Given the description of an element on the screen output the (x, y) to click on. 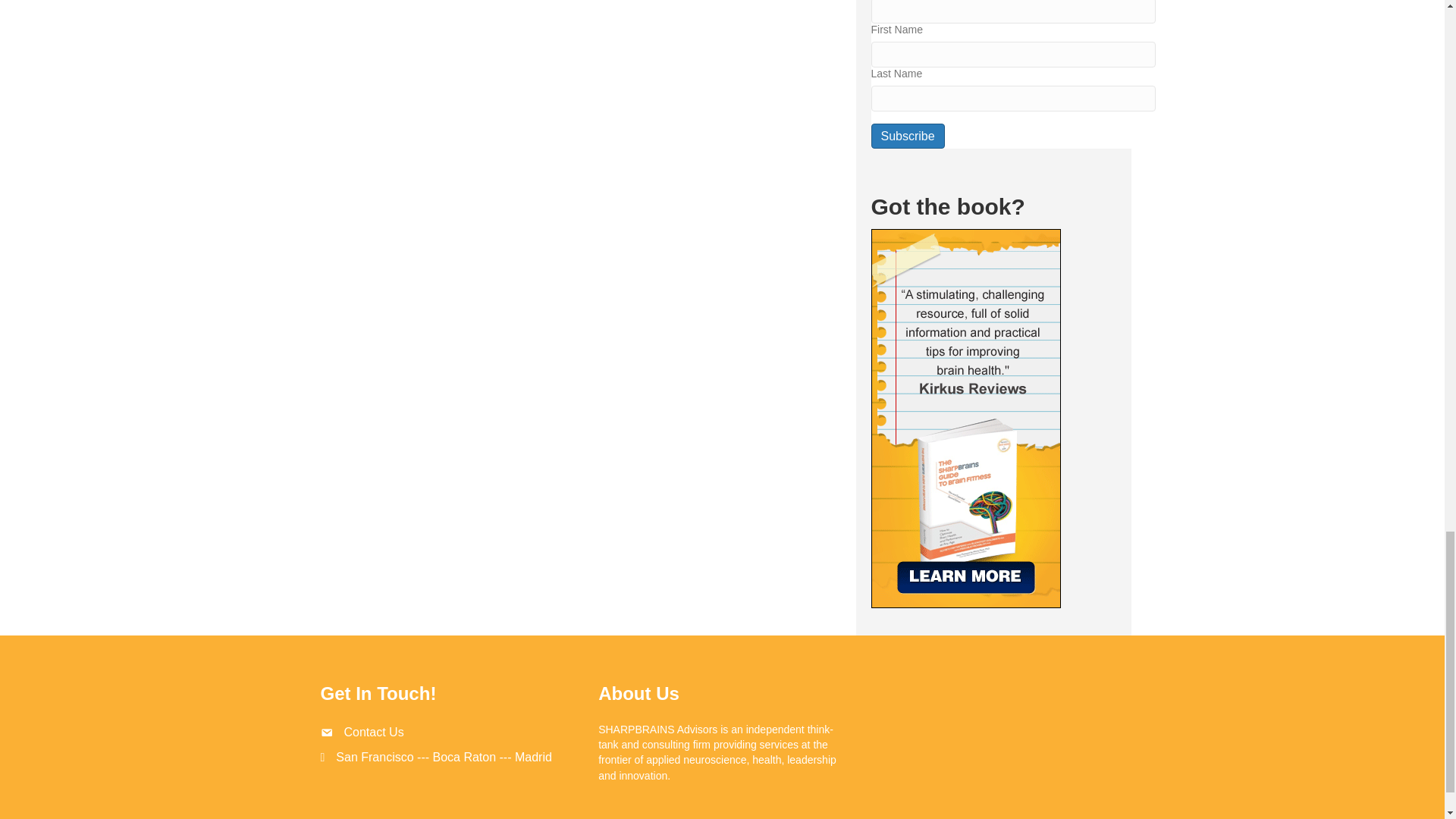
Subscribe (906, 135)
